Given the description of an element on the screen output the (x, y) to click on. 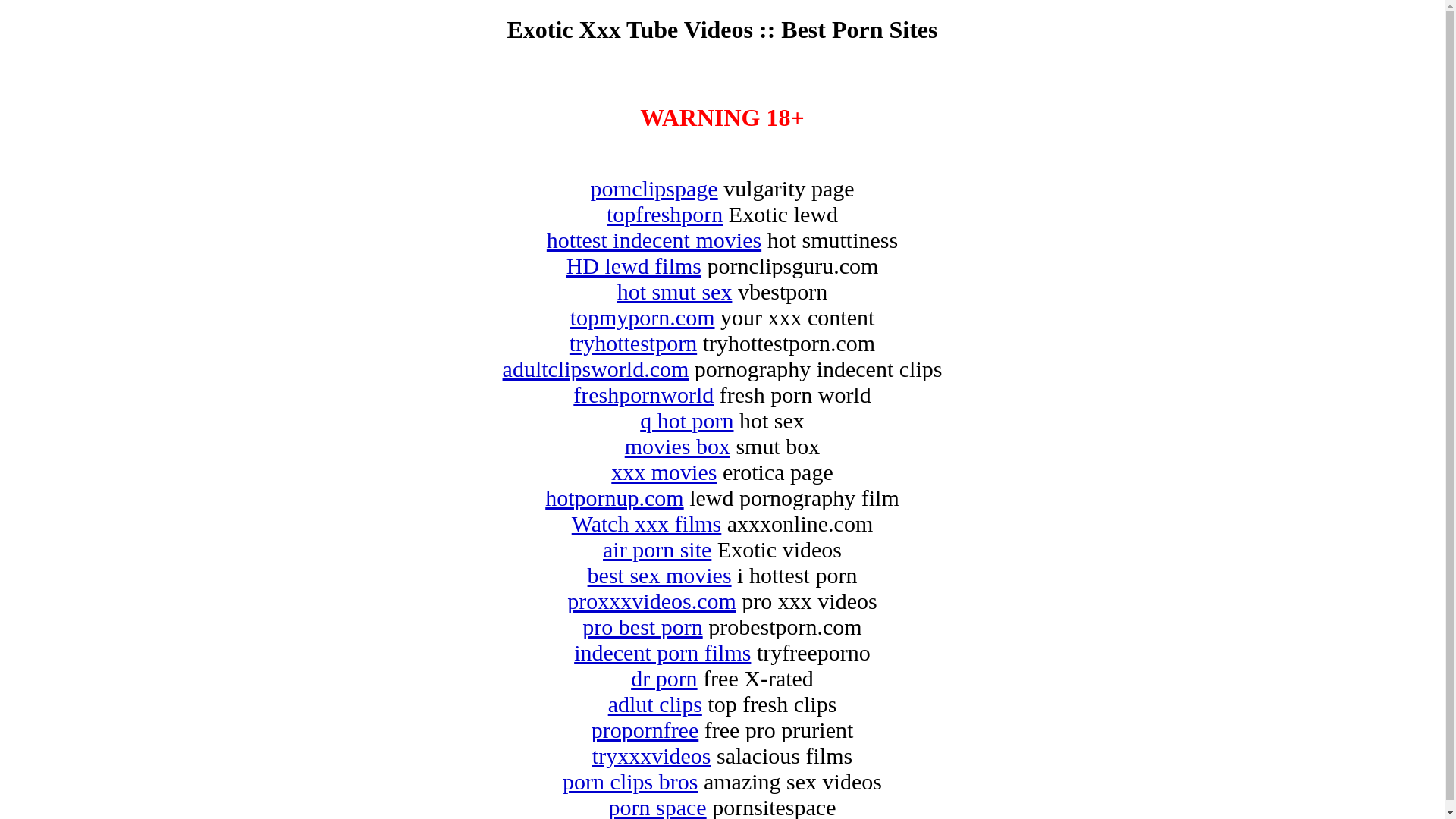
adlut clips Element type: text (655, 703)
topfreshporn Element type: text (664, 213)
adultclipsworld.com Element type: text (595, 368)
hotpornup.com Element type: text (614, 497)
proxxxvideos.com Element type: text (651, 600)
freshpornworld Element type: text (643, 394)
air porn site Element type: text (656, 548)
movies box Element type: text (677, 445)
q hot porn Element type: text (686, 420)
pornclipspage Element type: text (653, 187)
HD lewd films Element type: text (633, 265)
dr porn Element type: text (663, 677)
topmyporn.com Element type: text (642, 316)
Watch xxx films Element type: text (646, 523)
hot smut sex Element type: text (674, 291)
hottest indecent movies Element type: text (653, 239)
porn clips bros Element type: text (629, 780)
propornfree Element type: text (645, 729)
indecent porn films Element type: text (662, 652)
best sex movies Element type: text (659, 574)
pro best porn Element type: text (642, 626)
tryhottestporn Element type: text (632, 342)
xxx movies Element type: text (663, 471)
tryxxxvideos Element type: text (651, 755)
